Given the description of an element on the screen output the (x, y) to click on. 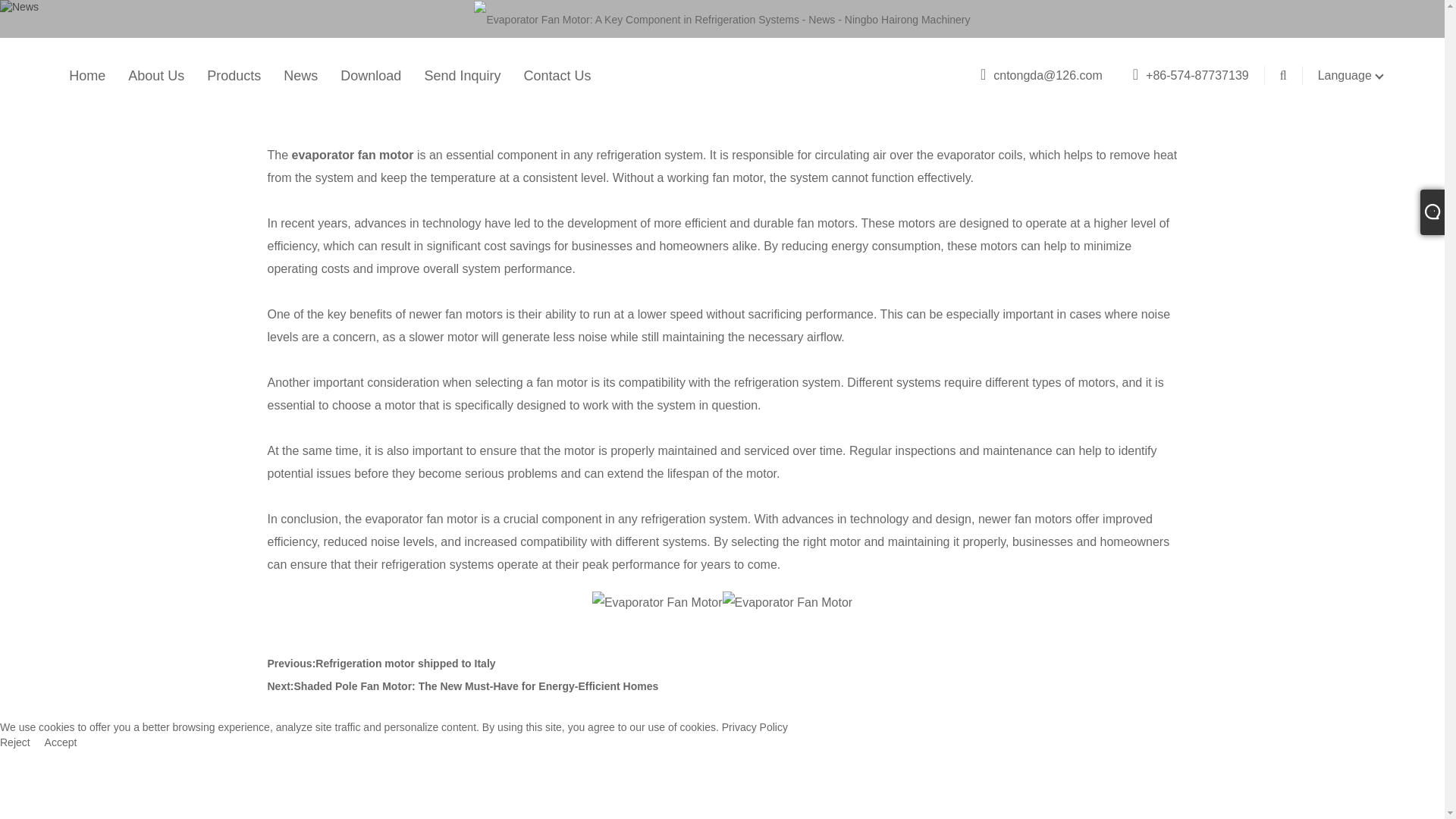
Contact Us (556, 75)
Send Inquiry (461, 75)
